Given the description of an element on the screen output the (x, y) to click on. 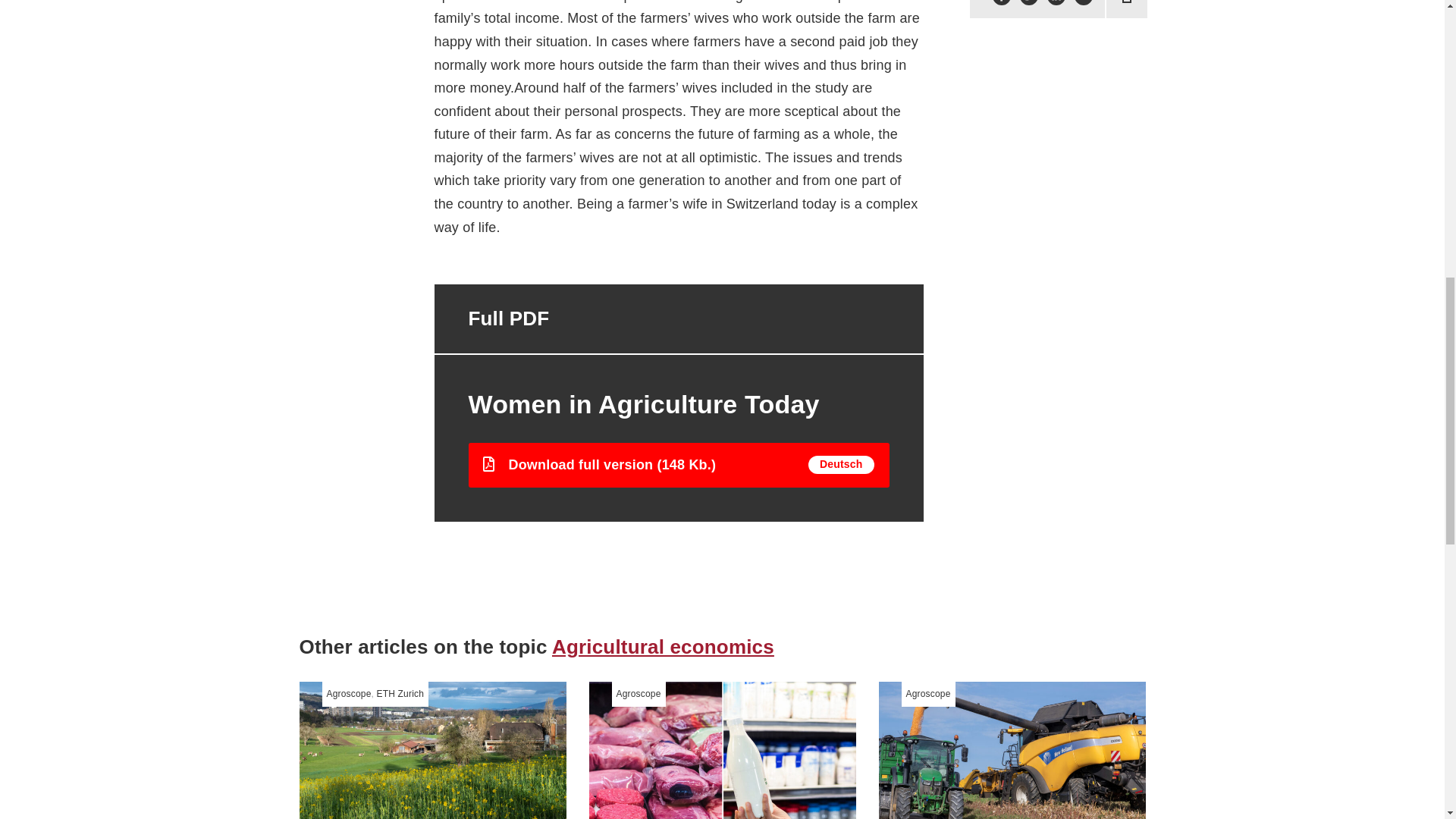
Agroscope (348, 693)
www.agroscope.ch (348, 693)
Share on LinkedIn (1055, 3)
Agricultural economics (662, 646)
Share on LinkedIn (1055, 3)
Download this article as a PDF (1126, 3)
Share on Twitter (1029, 3)
ETH Zurich (400, 693)
Share on Facebook (1001, 3)
Agroscope (638, 693)
Print this article (1126, 3)
Share by e-mail (1083, 3)
Share on Twitter (1029, 3)
ethz.ch (400, 693)
Share by e-mail (1083, 3)
